Given the description of an element on the screen output the (x, y) to click on. 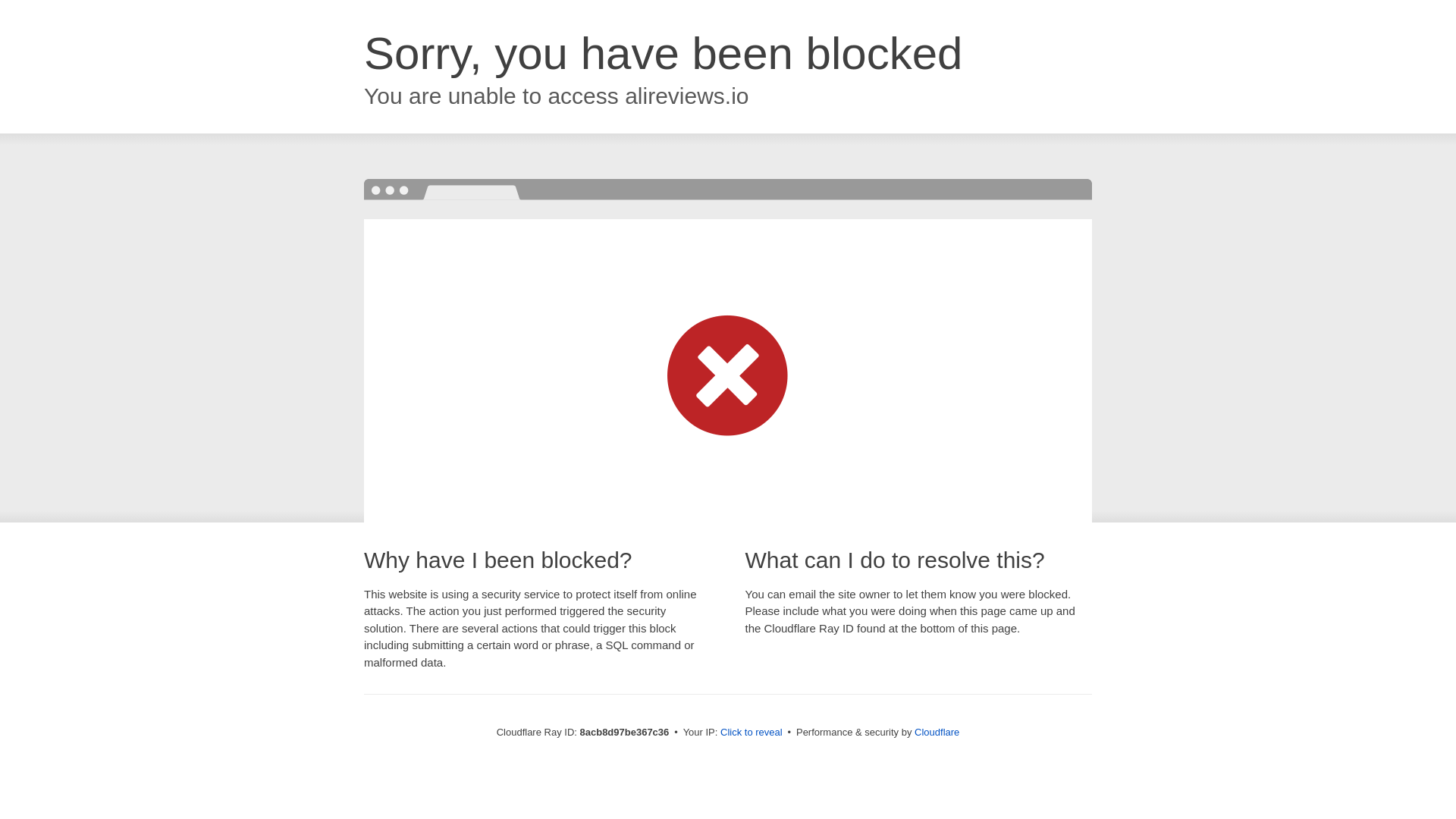
Cloudflare (936, 731)
Click to reveal (751, 732)
